Given the description of an element on the screen output the (x, y) to click on. 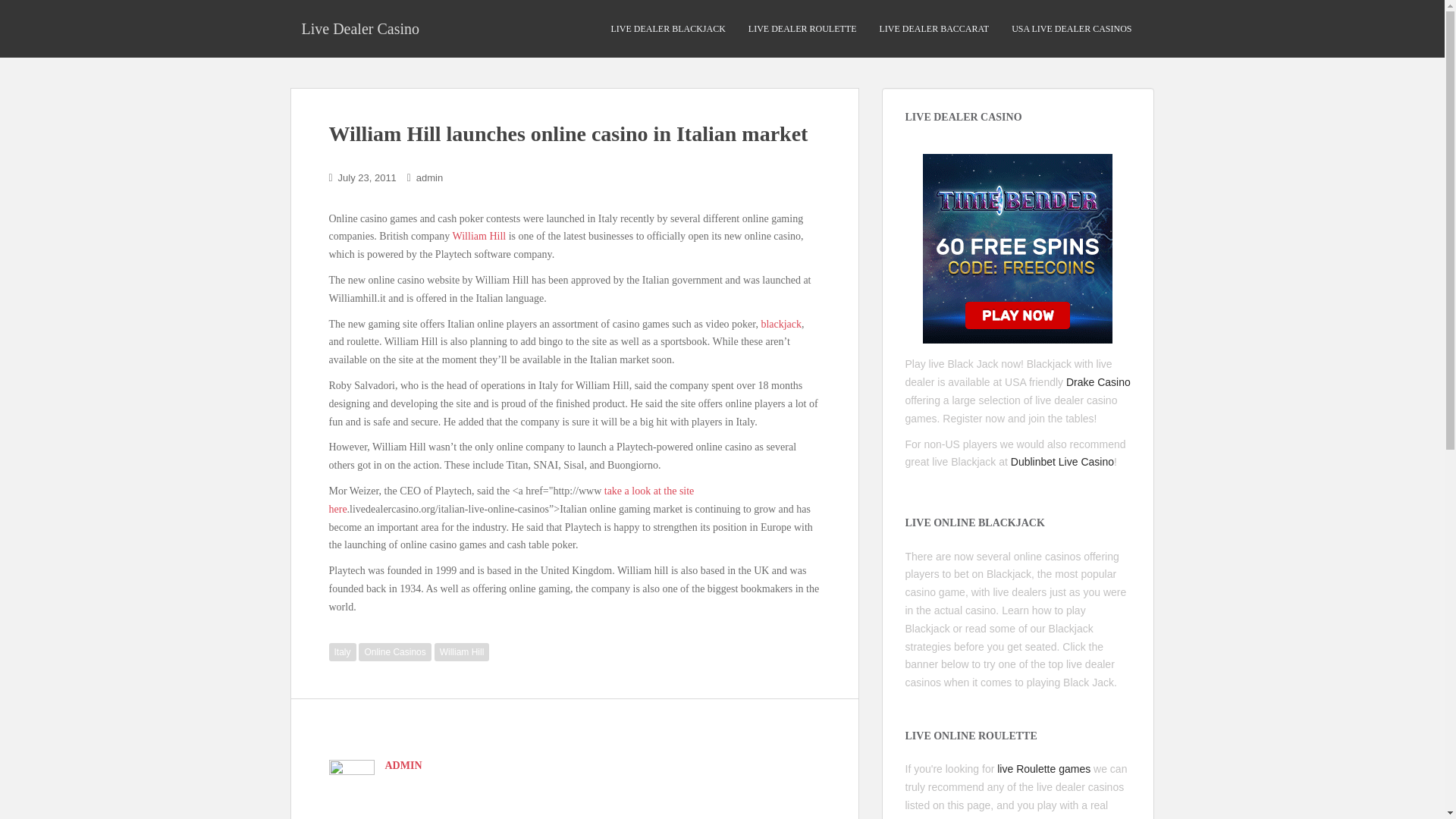
LIVE DEALER BACCARAT (933, 28)
Live Dealer Blackjack (667, 28)
admin (429, 177)
USA LIVE DEALER CASINOS (1071, 28)
Online Casinos (394, 651)
ADMIN (403, 765)
blackjack (781, 324)
William Hill (461, 651)
LIVE DEALER BLACKJACK (667, 28)
Drake Casino (1098, 381)
July 23, 2011 (366, 177)
Italy (342, 651)
Live Dealer Casino (359, 28)
Live Dealer Baccarat (933, 28)
take a look at the site here (511, 500)
